Given the description of an element on the screen output the (x, y) to click on. 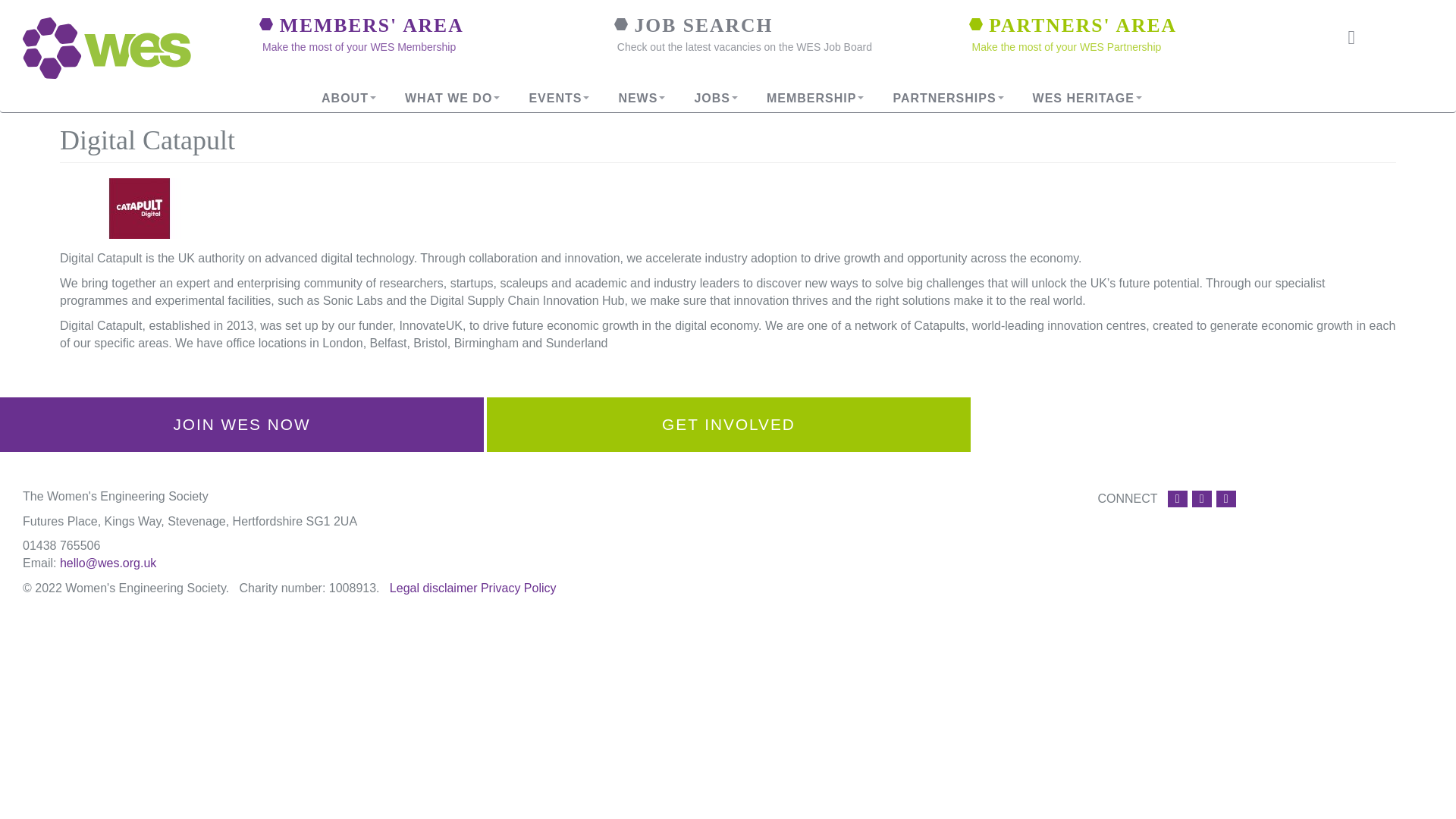
MEMBERS' AREA (371, 25)
PARTNERS' AREA (1082, 25)
JOB SEARCH (703, 25)
Make the most of your WES Membership (358, 46)
Make the most of your WES Partnership (1066, 46)
Home (119, 47)
Check out the latest vacancies on the WES Job Board (744, 46)
Centenary (1083, 98)
